Given the description of an element on the screen output the (x, y) to click on. 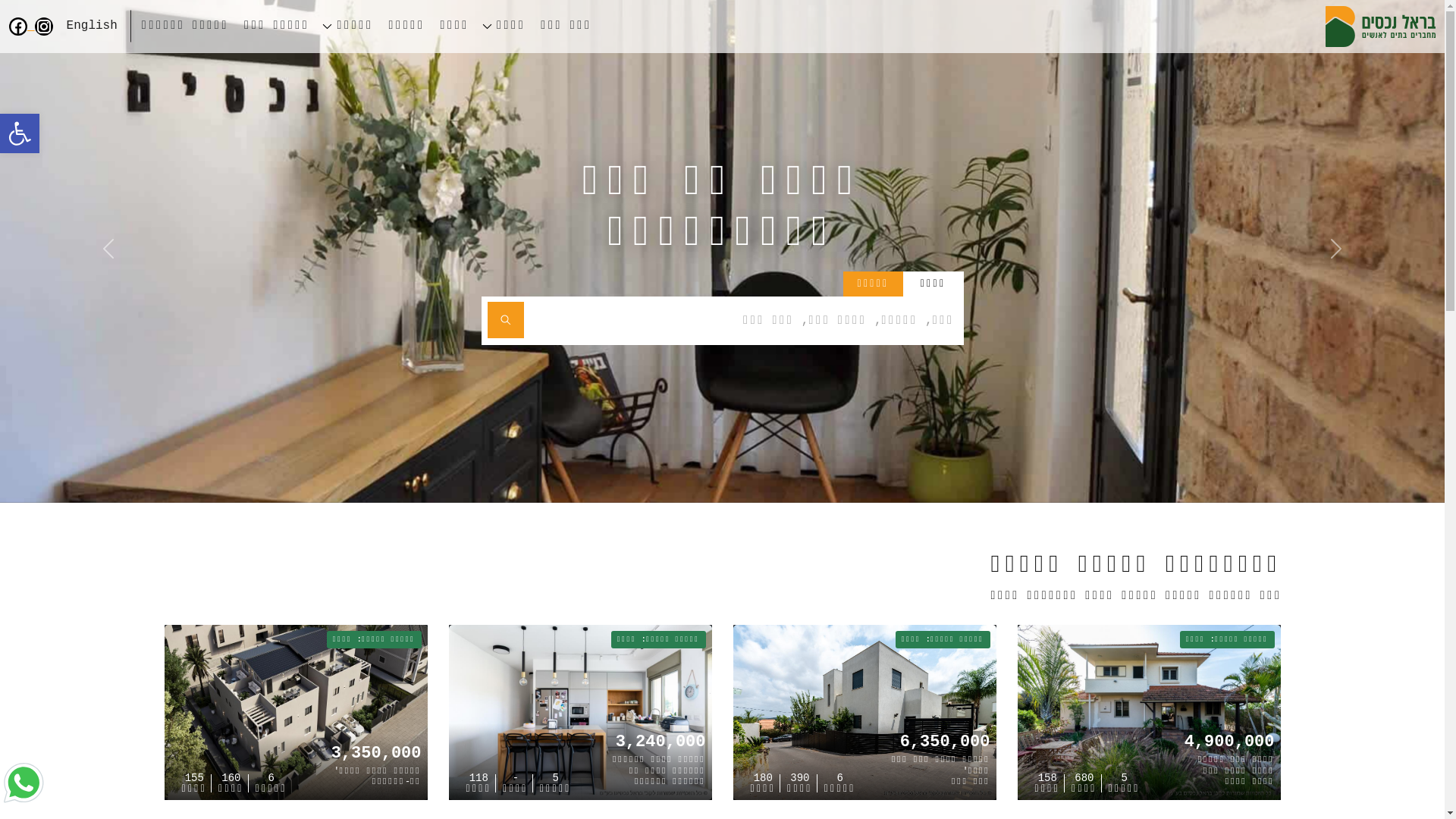
English Element type: text (92, 25)
Previous Element type: text (1335, 251)
Next Element type: text (108, 251)
